Given the description of an element on the screen output the (x, y) to click on. 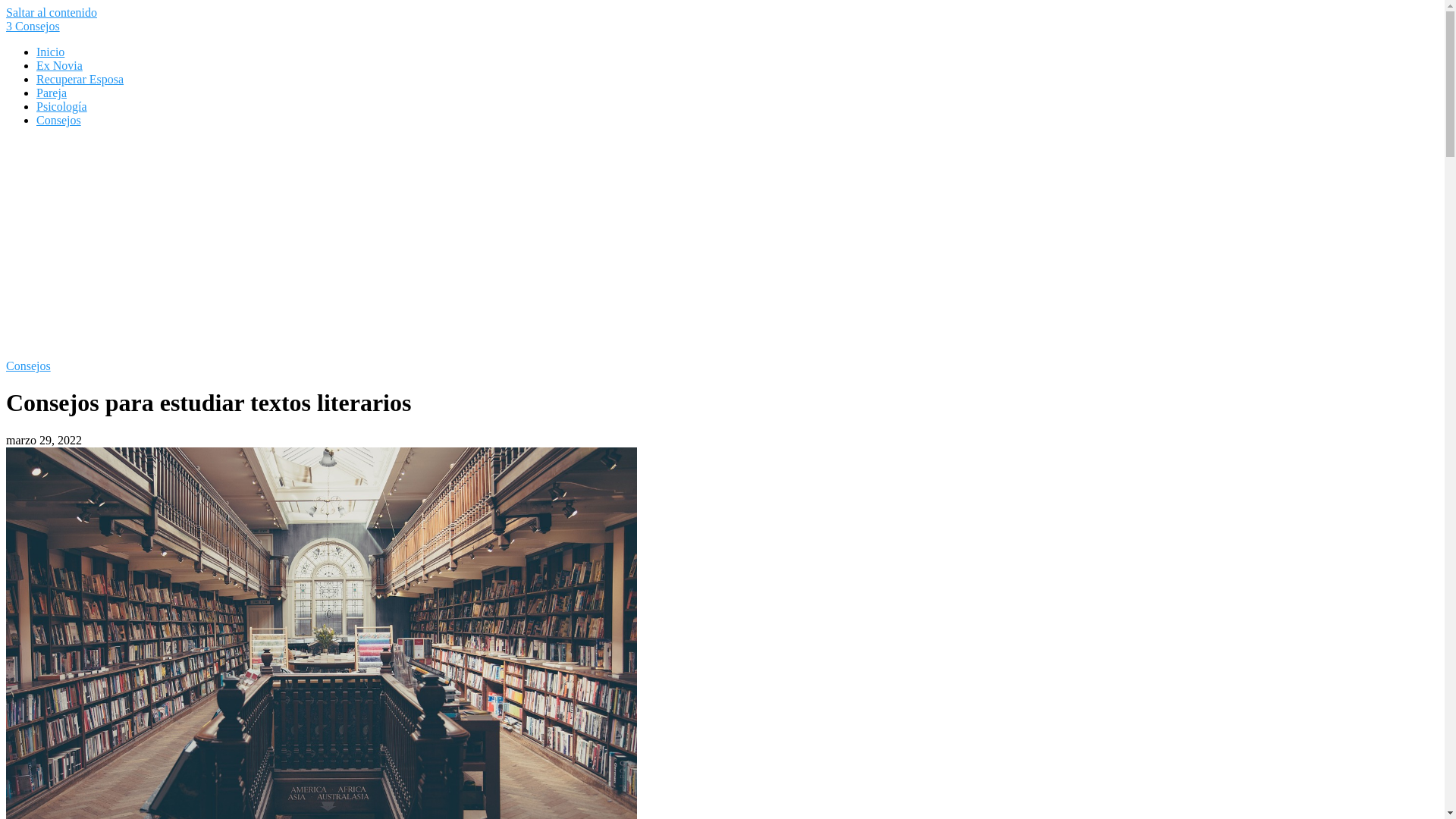
Inicio Element type: text (50, 51)
Consejos Element type: text (28, 365)
Recuperar Esposa Element type: text (79, 78)
Pareja Element type: text (51, 92)
Ex Novia Element type: text (59, 65)
Consejos Element type: text (58, 119)
Advertisement Element type: hover (721, 245)
3 Consejos Element type: text (32, 25)
Saltar al contenido Element type: text (51, 12)
